Given the description of an element on the screen output the (x, y) to click on. 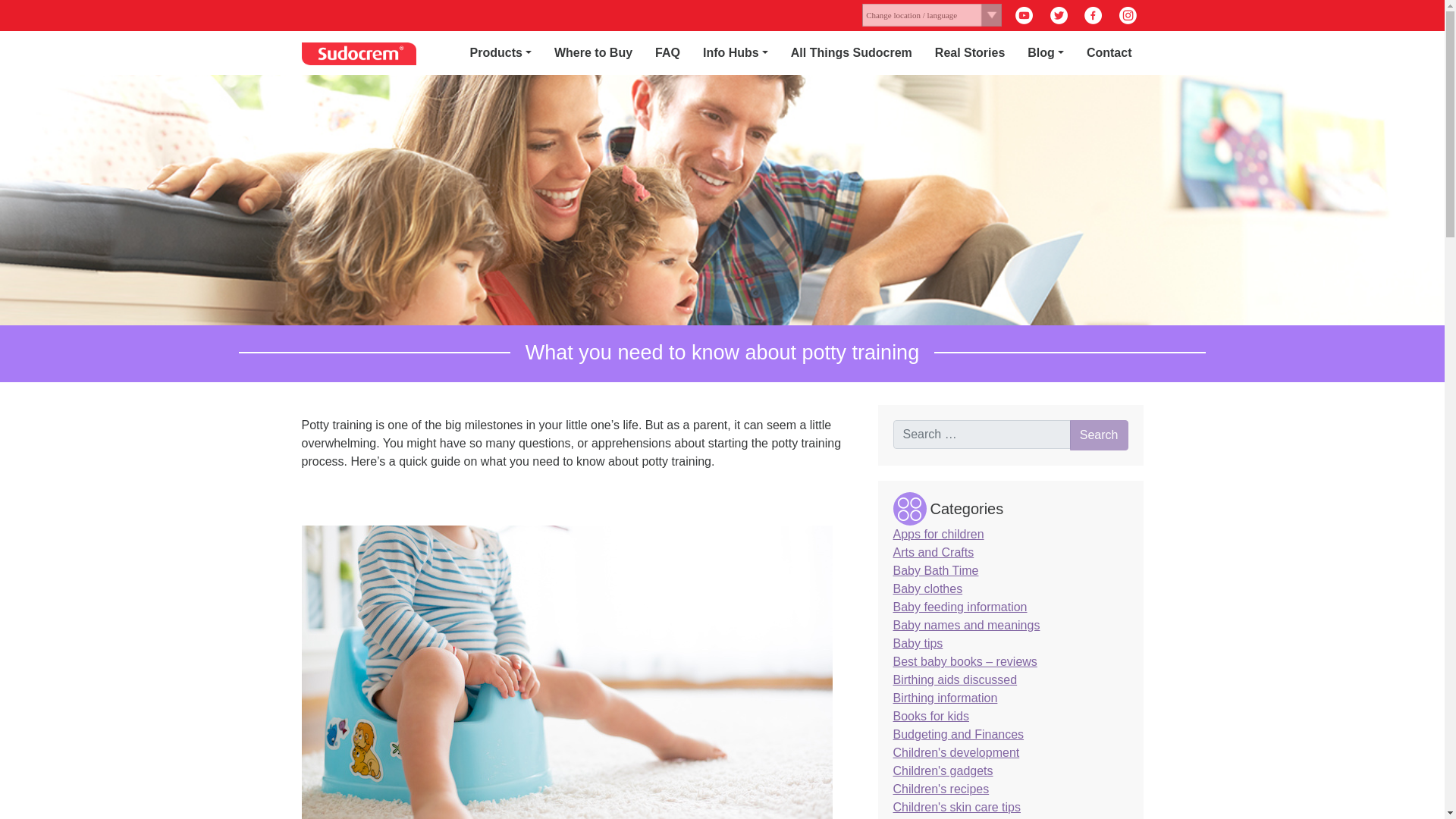
Real Stories (969, 52)
Blog (1045, 52)
Where to Buy (593, 52)
Contact (1108, 52)
FAQ (667, 52)
All Things Sudocrem (850, 52)
Products (500, 52)
Info Hubs (734, 52)
All Things Sudocrem (850, 52)
Real Stories (969, 52)
FAQ (667, 52)
Contact (1108, 52)
Search (1099, 435)
Products (500, 52)
Blog (1045, 52)
